Given the description of an element on the screen output the (x, y) to click on. 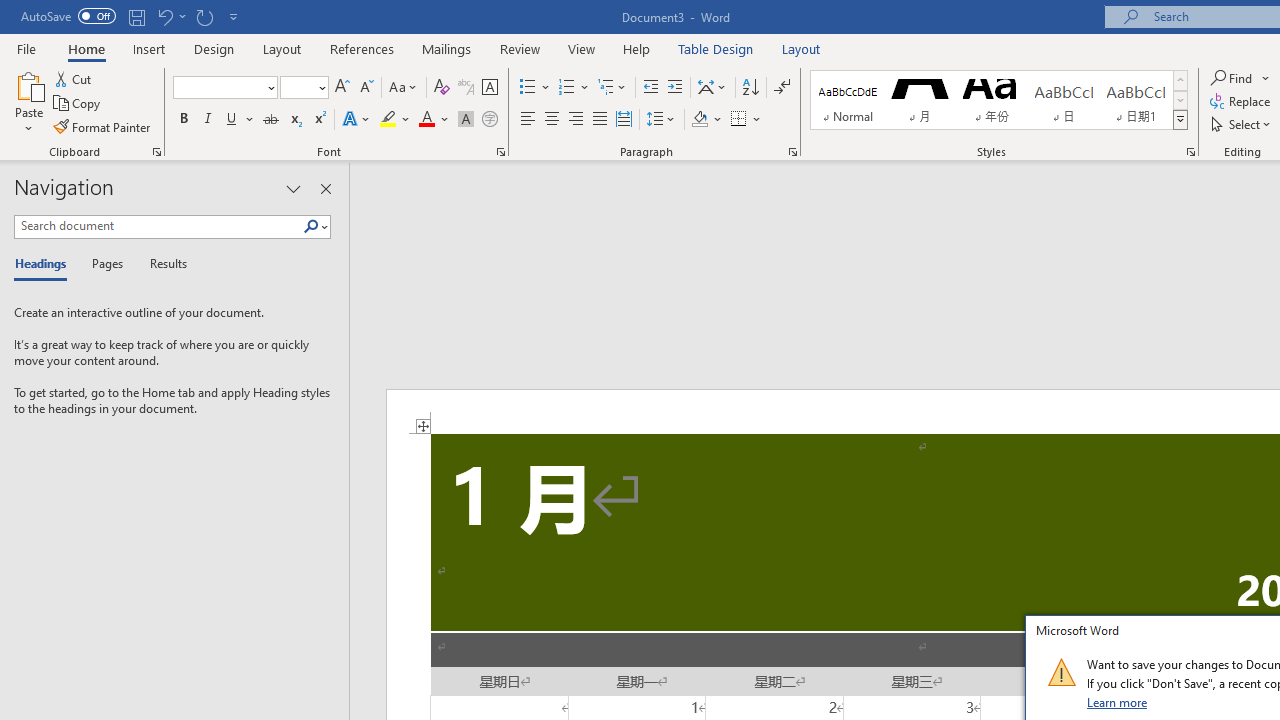
Multilevel List (613, 87)
Borders (746, 119)
File Tab (26, 48)
Justify (599, 119)
Text Highlight Color (395, 119)
Line and Paragraph Spacing (661, 119)
Clear Formatting (442, 87)
View (582, 48)
Distributed (623, 119)
Shrink Font (365, 87)
Office Clipboard... (156, 151)
Bullets (535, 87)
Font Color (434, 119)
Phonetic Guide... (465, 87)
Close pane (325, 188)
